Given the description of an element on the screen output the (x, y) to click on. 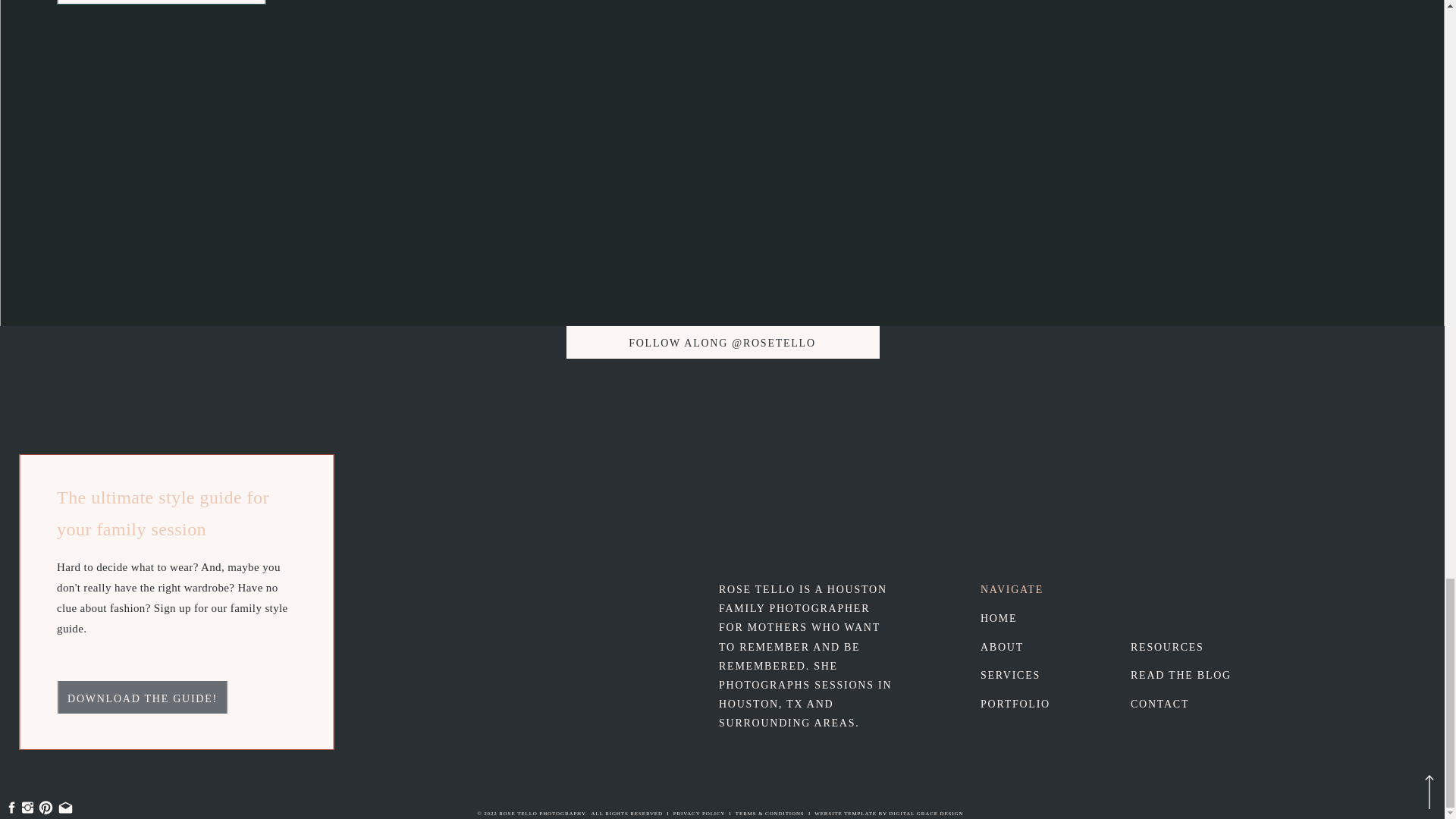
READ THE BLOG (1195, 673)
RESOURCES (1187, 646)
WEBSITE TEMPLATE BY DIGITAL GRACE DESIGN (887, 813)
CONTACT (1190, 702)
PRIVACY POLICY (698, 813)
